Given the description of an element on the screen output the (x, y) to click on. 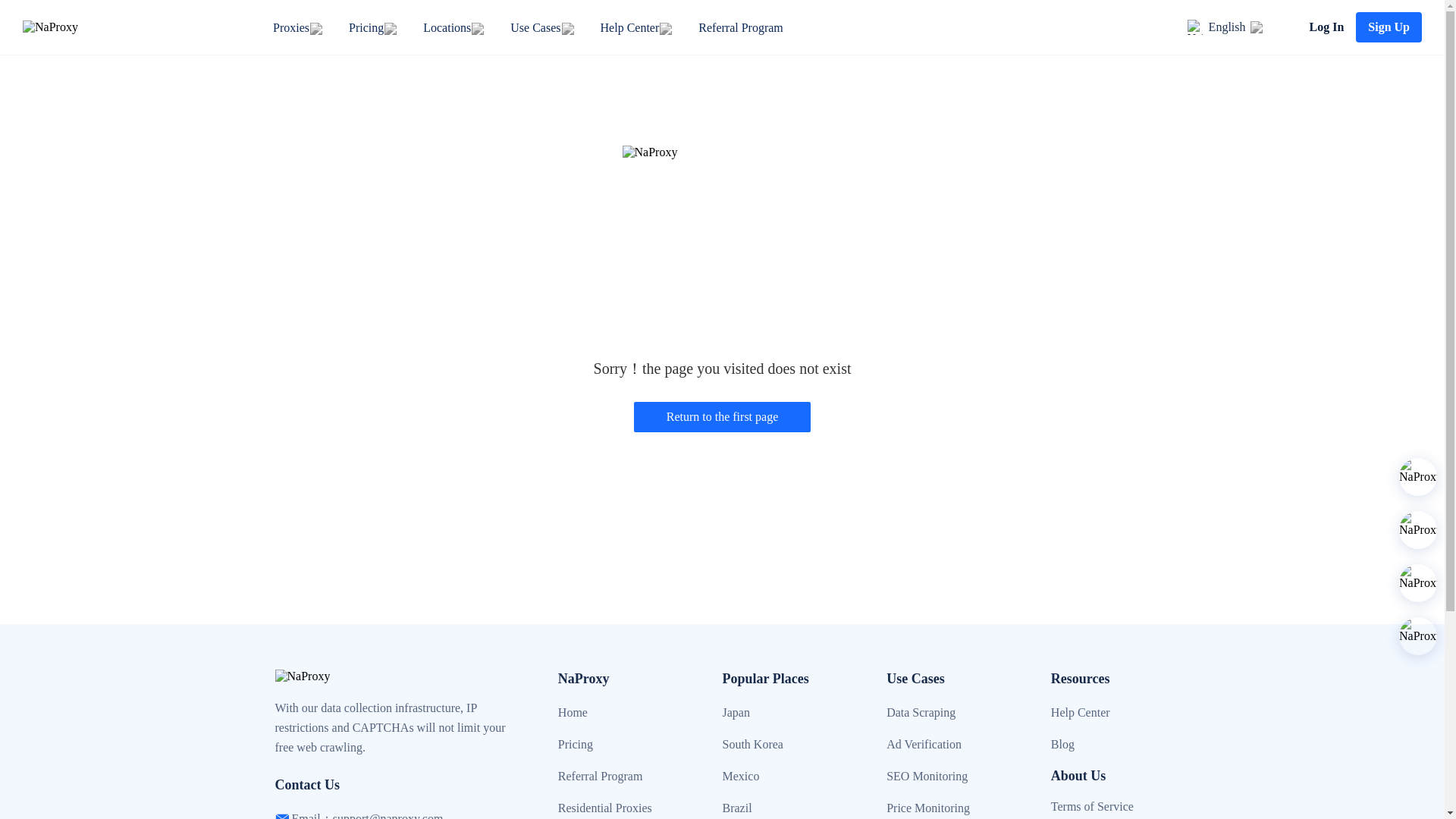
Log In (1326, 27)
Sign Up (1388, 27)
Referral Program (740, 27)
Help Center (629, 27)
Use Cases (535, 27)
